Given the description of an element on the screen output the (x, y) to click on. 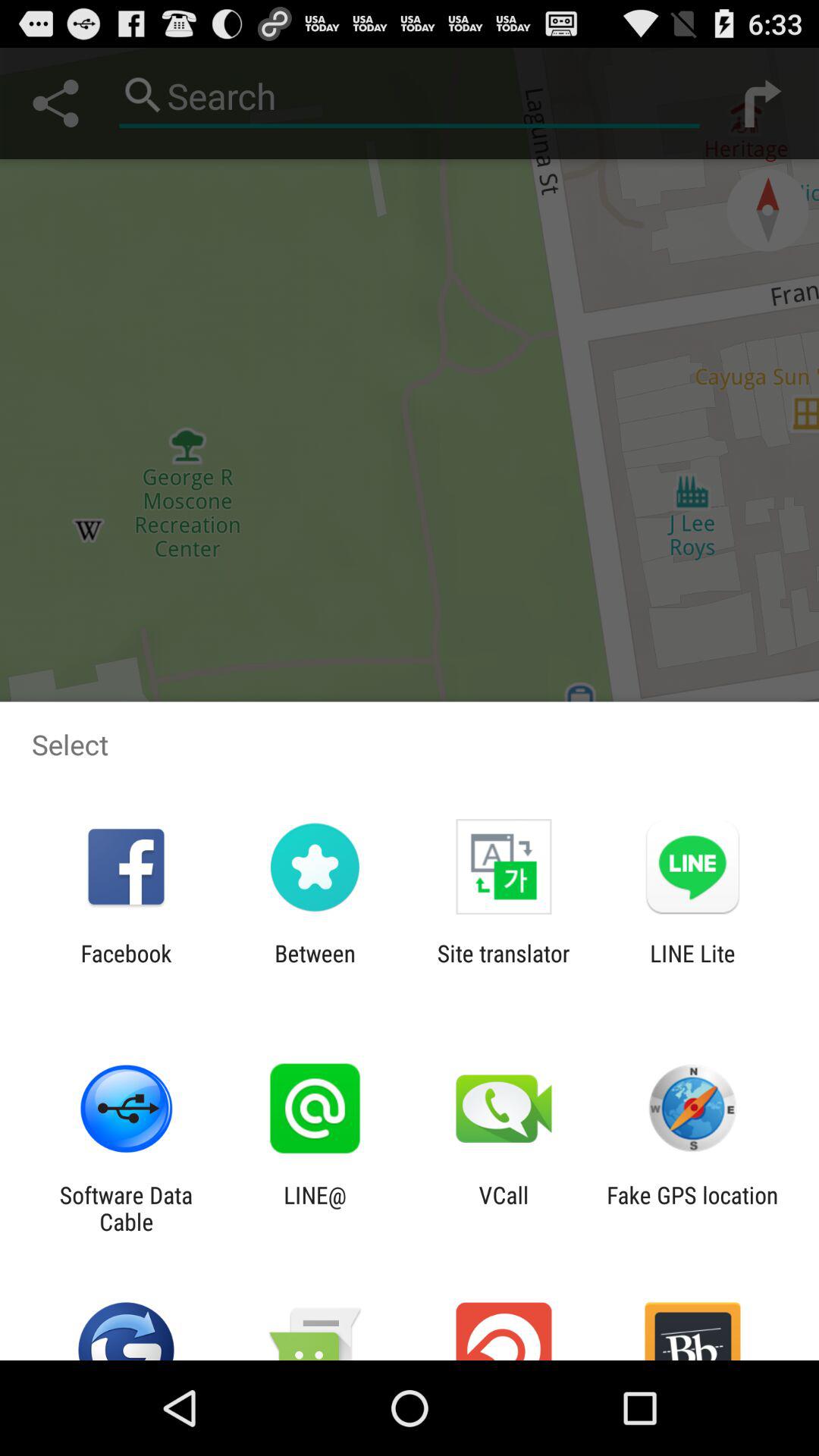
turn off icon to the right of line@ icon (503, 1208)
